Given the description of an element on the screen output the (x, y) to click on. 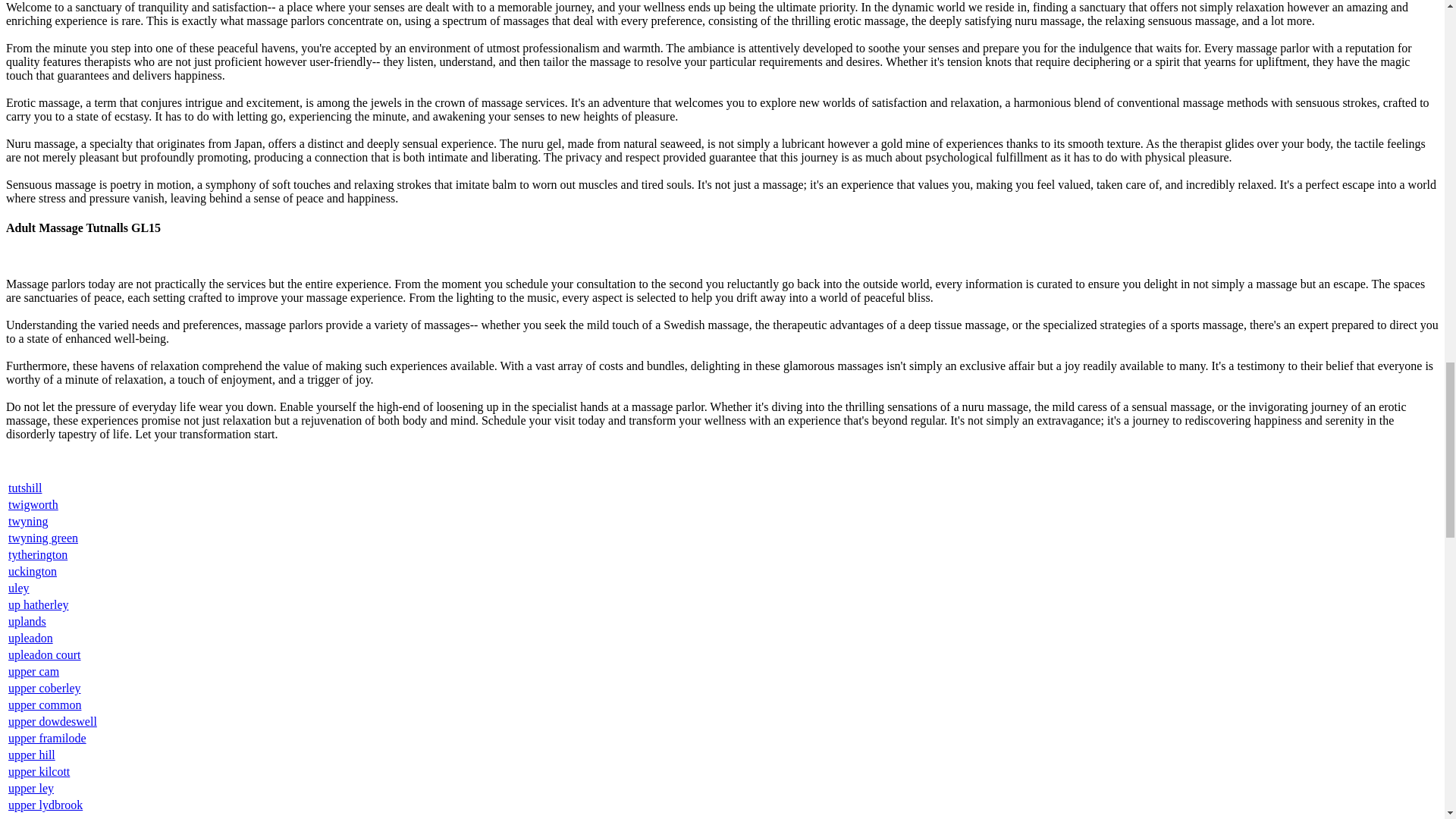
twigworth (33, 504)
upper lydbrook (45, 804)
twyning (28, 521)
upper hill (31, 754)
upper dowdeswell (52, 721)
uckington (32, 571)
upper common (44, 704)
up hatherley (38, 604)
upper kilcott (38, 771)
tytherington (37, 554)
